Given the description of an element on the screen output the (x, y) to click on. 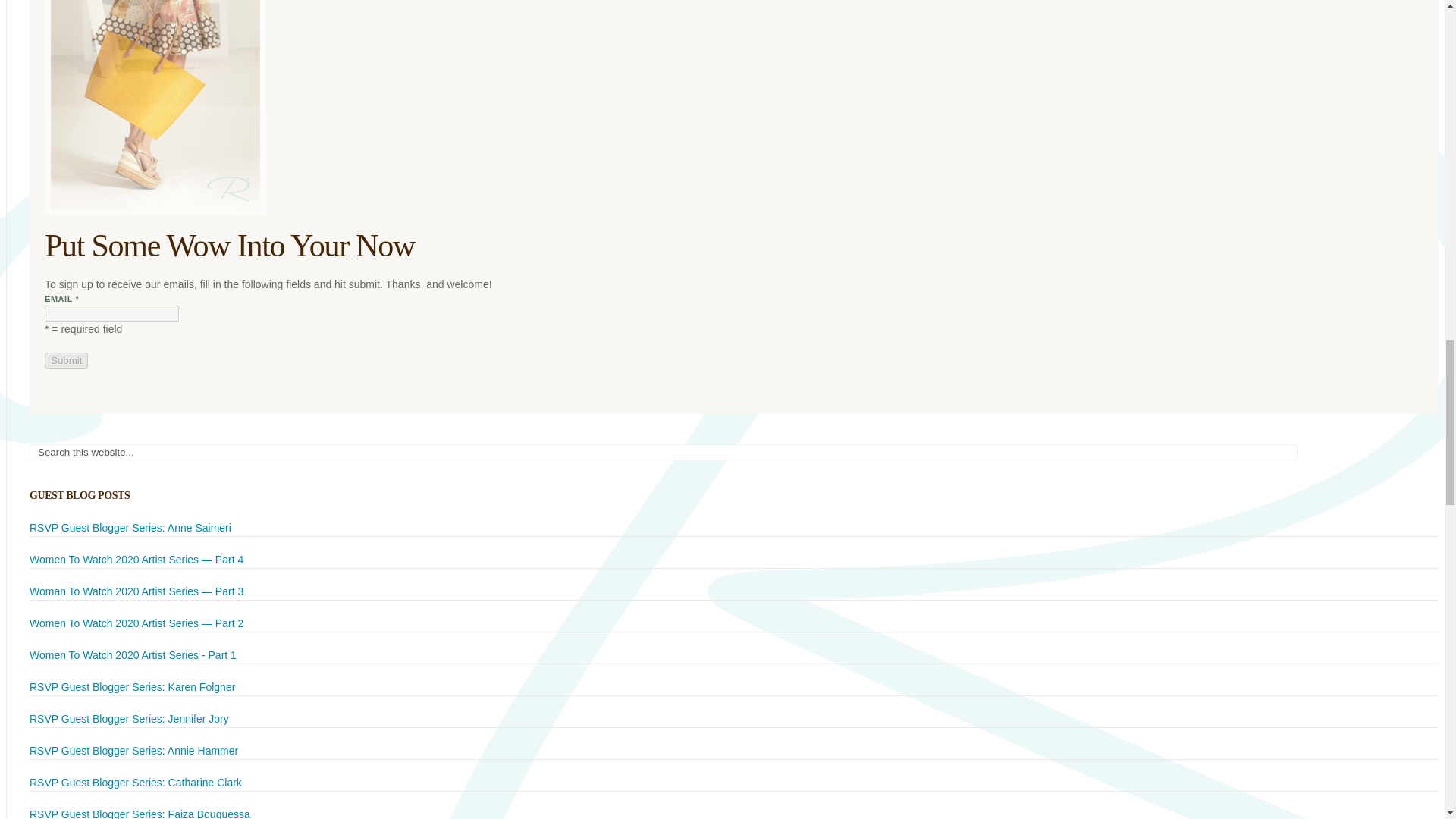
Submit (66, 360)
Search this website... (663, 452)
RSVP Guest Blogger Series: Jennifer Jory  (130, 718)
Women To Watch 2020 Artist Series - Part 1 (132, 654)
RSVP Guest Blogger Series: Annie Hammer (133, 750)
RSVP Guest Blogger Series: Karen Folgner (131, 686)
Submit (66, 360)
RSVP Guest Blogger Series: Anne Saimeri (130, 527)
